Given the description of an element on the screen output the (x, y) to click on. 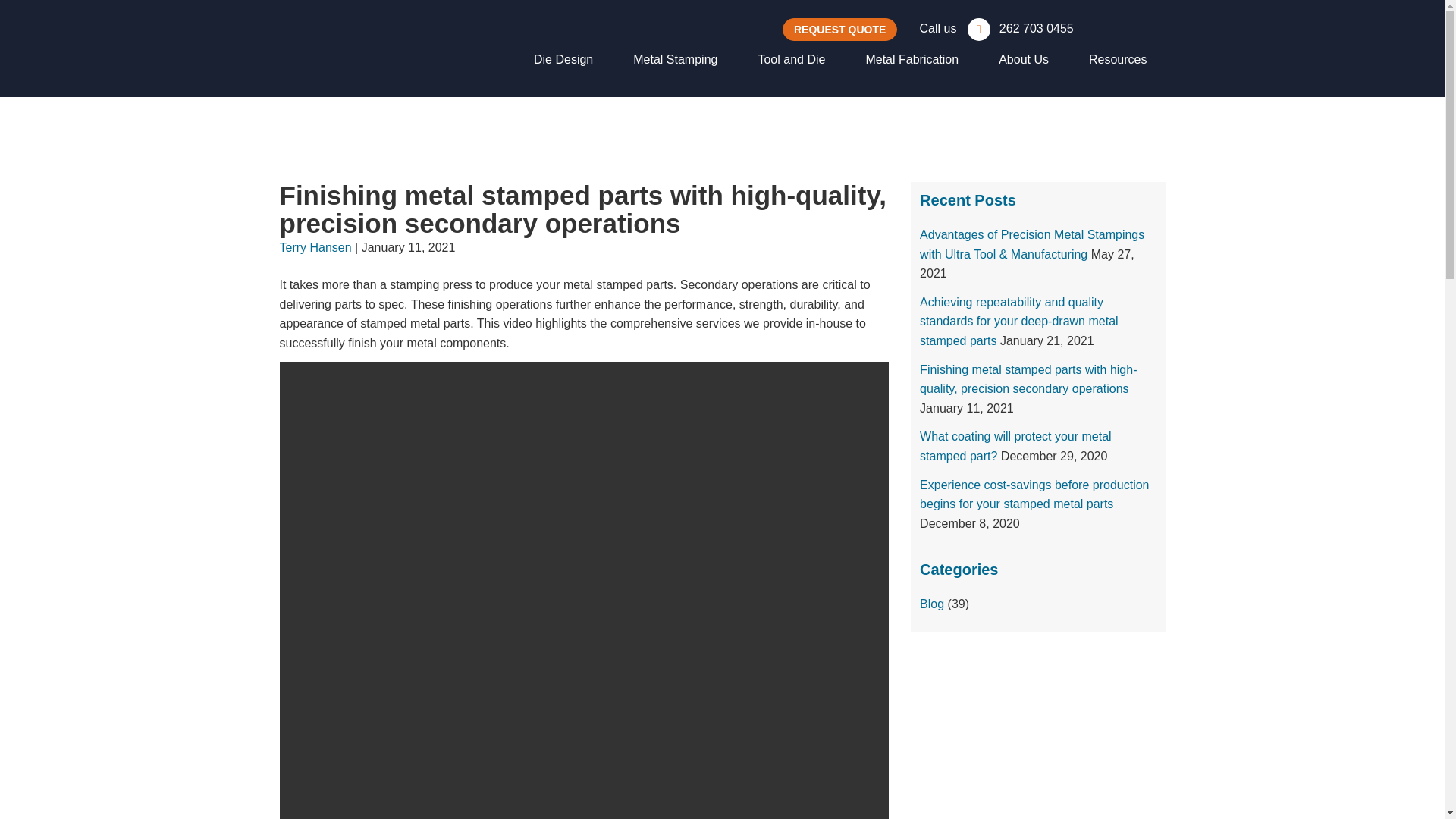
Metal Fabrication (912, 59)
Metal Stamping (675, 59)
Die Design (563, 59)
REQUEST QUOTE (839, 29)
Terry Hansen (314, 246)
262 703 0455 (1016, 28)
About Us (1024, 59)
What coating will protect your metal stamped part? (1016, 445)
Tool and Die (791, 59)
Posts by Terry Hansen (314, 246)
Blog (931, 603)
Resources (1113, 59)
